Given the description of an element on the screen output the (x, y) to click on. 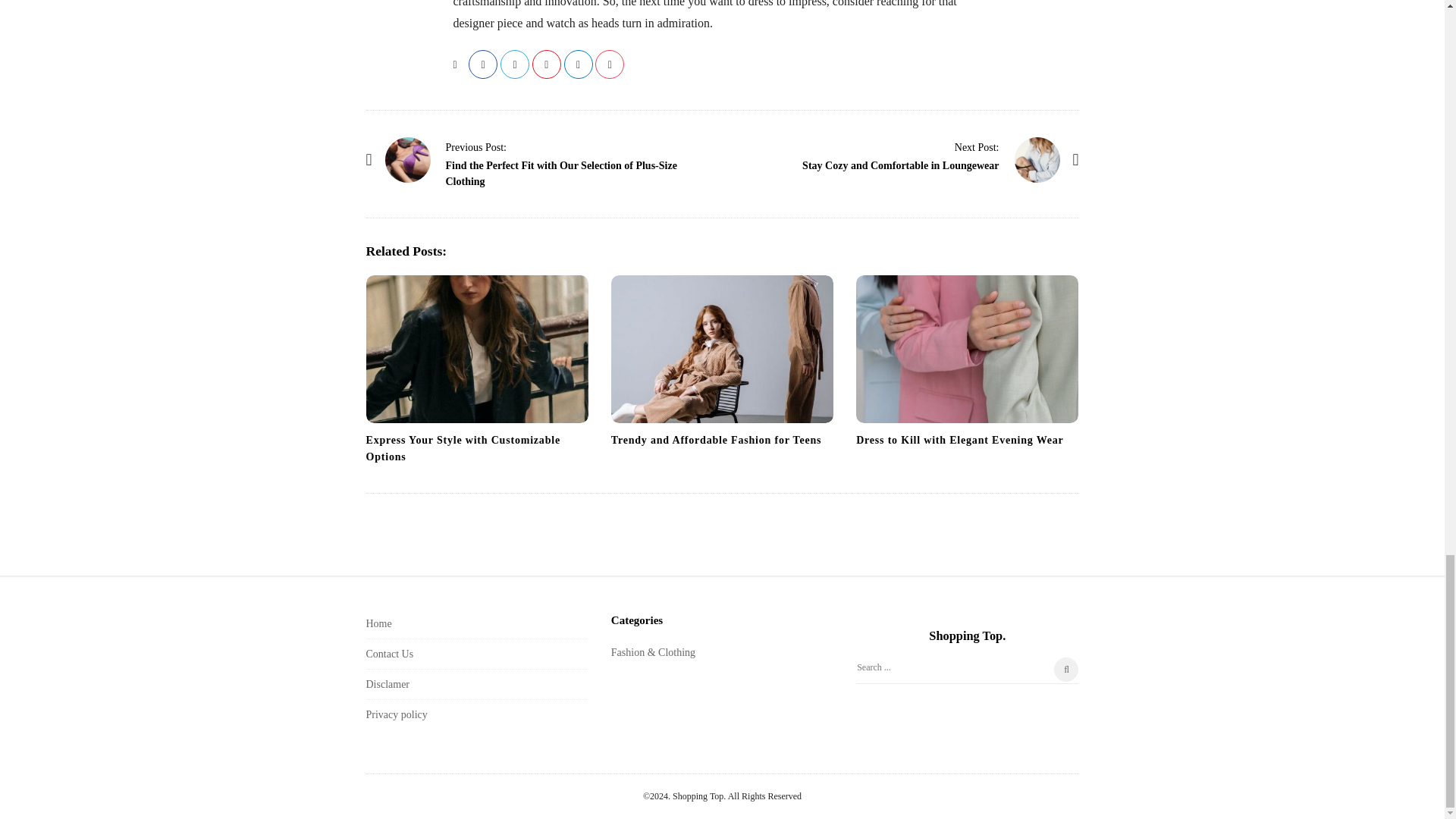
Stay Cozy and Comfortable in Loungewear (1036, 159)
Privacy policy (395, 714)
Trendy and Affordable Fashion for Teens (721, 349)
Trendy and Affordable Fashion for Teens (716, 439)
Disclamer (387, 684)
Dress to Kill with Elegant Evening Wear (967, 349)
Stay Cozy and Comfortable in Loungewear (900, 165)
Express Your Style with Customizable Options (476, 349)
Stay Cozy and Comfortable in Loungewear (976, 146)
Dress to Kill with Elegant Evening Wear (959, 439)
Express Your Style with Customizable Options (462, 448)
Next Post: (976, 146)
Express Your Style with Customizable Options (462, 448)
